Given the description of an element on the screen output the (x, y) to click on. 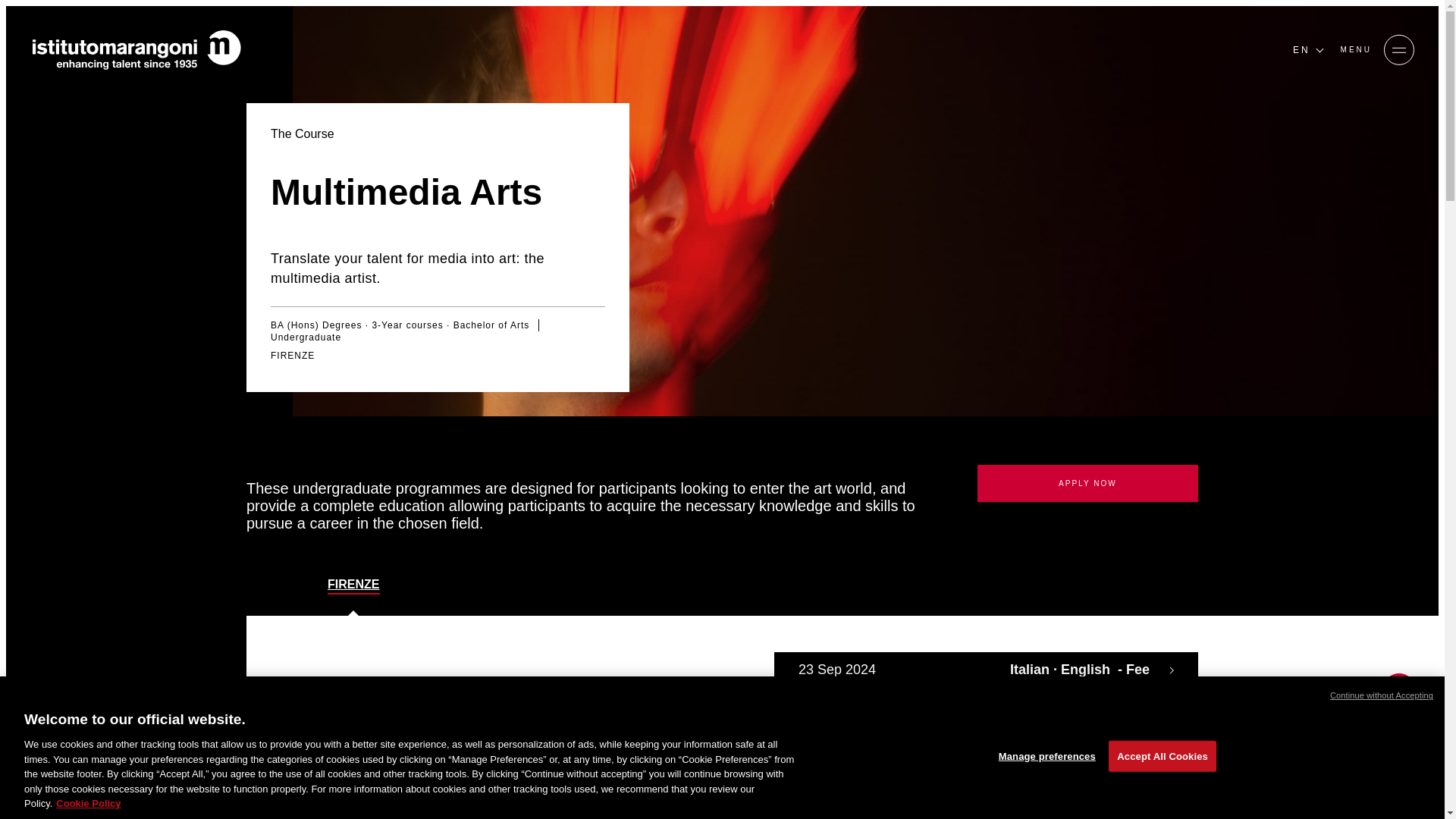
GET IN TOUCH VIA WHATSAPP (1398, 725)
CALL US (1398, 688)
Register now (162, 756)
